Given the description of an element on the screen output the (x, y) to click on. 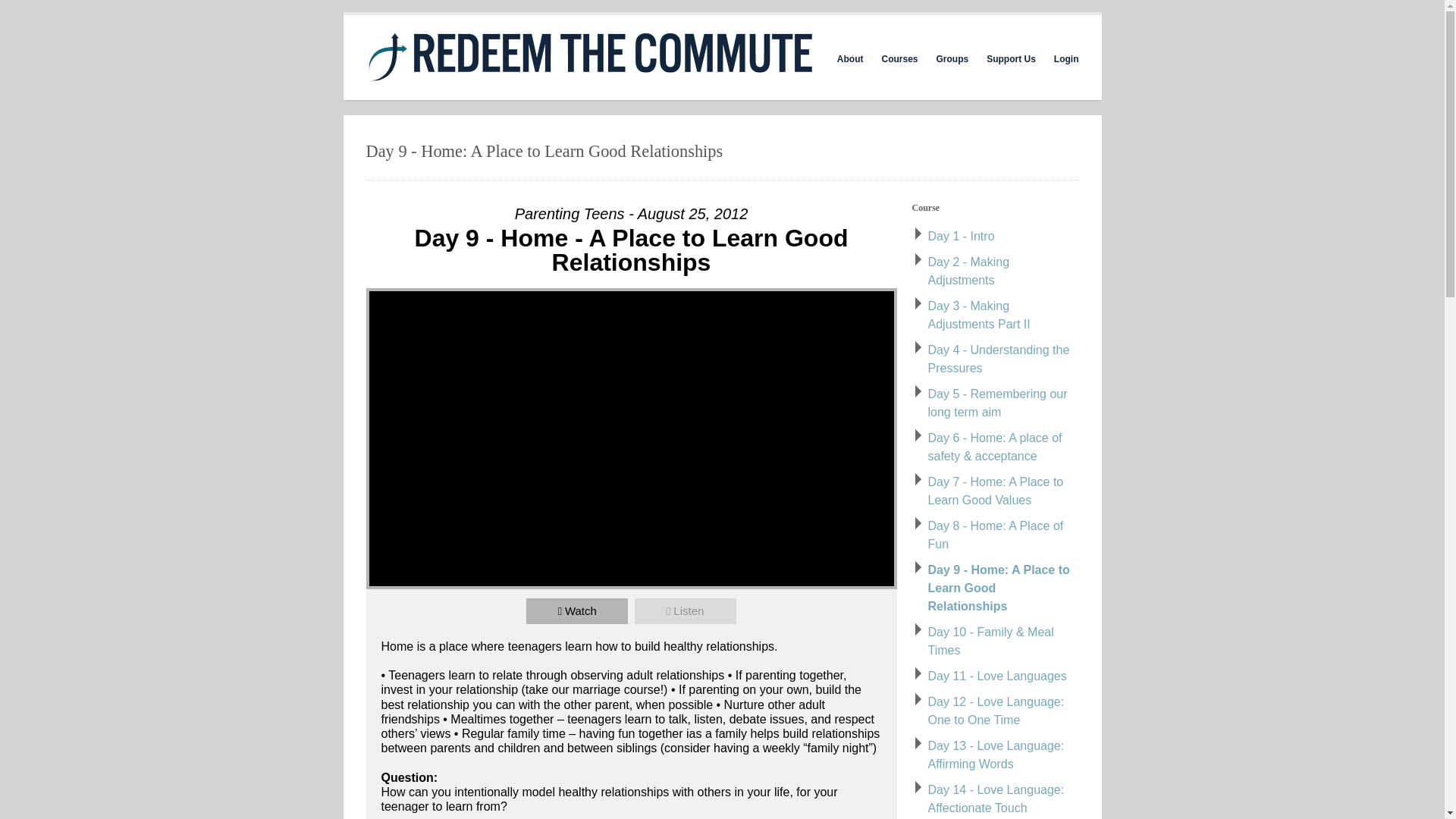
Day 9 - Home: A Place to Learn Good Relationships (999, 587)
Day 11 - Love Languages (997, 675)
Day 7 - Home: A Place to Learn Good Values (996, 490)
Watch (576, 611)
Login (1066, 58)
Listen (685, 611)
Day 14 - Love Language: Affectionate Touch (996, 798)
Courses (898, 58)
Day 13 - Love Language: Affirming Words (996, 754)
Groups (952, 58)
Day 3 - Making Adjustments Part II (979, 314)
Day 5 - Remembering our long term aim (997, 402)
Day 8 - Home: A Place of Fun (996, 534)
Day 2 - Making Adjustments (969, 270)
Day 1 - Intro (961, 236)
